Given the description of an element on the screen output the (x, y) to click on. 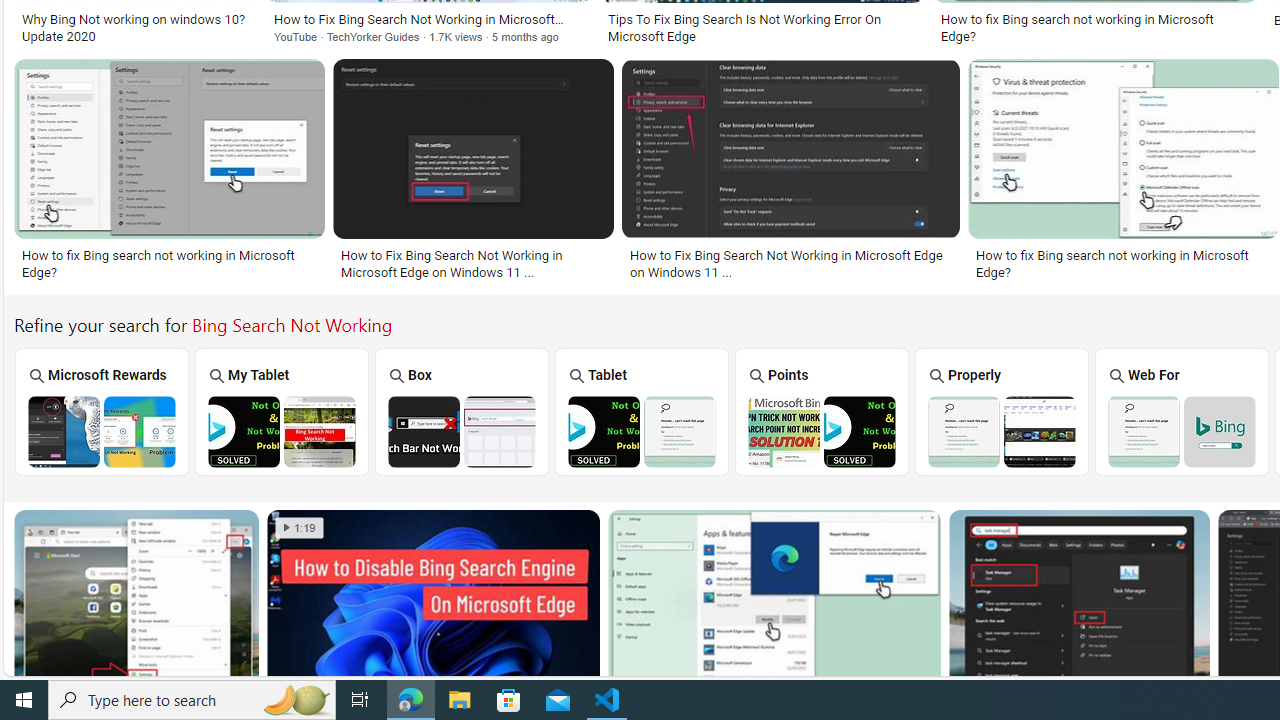
How to fix Bing search not working in Microsoft Edge? (1123, 263)
Bing Search Not Working Properly (1002, 431)
Bing Tablet Search Not Working (641, 431)
Points (821, 411)
Bing Search Box Not Working (462, 431)
Bing Search Not Working On My Tablet My Tablet (281, 411)
Image result for Bing Search Not Working (1078, 602)
1:19 (299, 528)
How to fix Bing search not working in Microsoft Edge?Save (173, 173)
Bing Tablet Search Not Working Tablet (641, 411)
Microsoft Rewards (101, 411)
Why Bing Not working on windows 10? Update 2020 (135, 27)
How to fix Bing search not working in Microsoft Edge? (1123, 263)
